Given the description of an element on the screen output the (x, y) to click on. 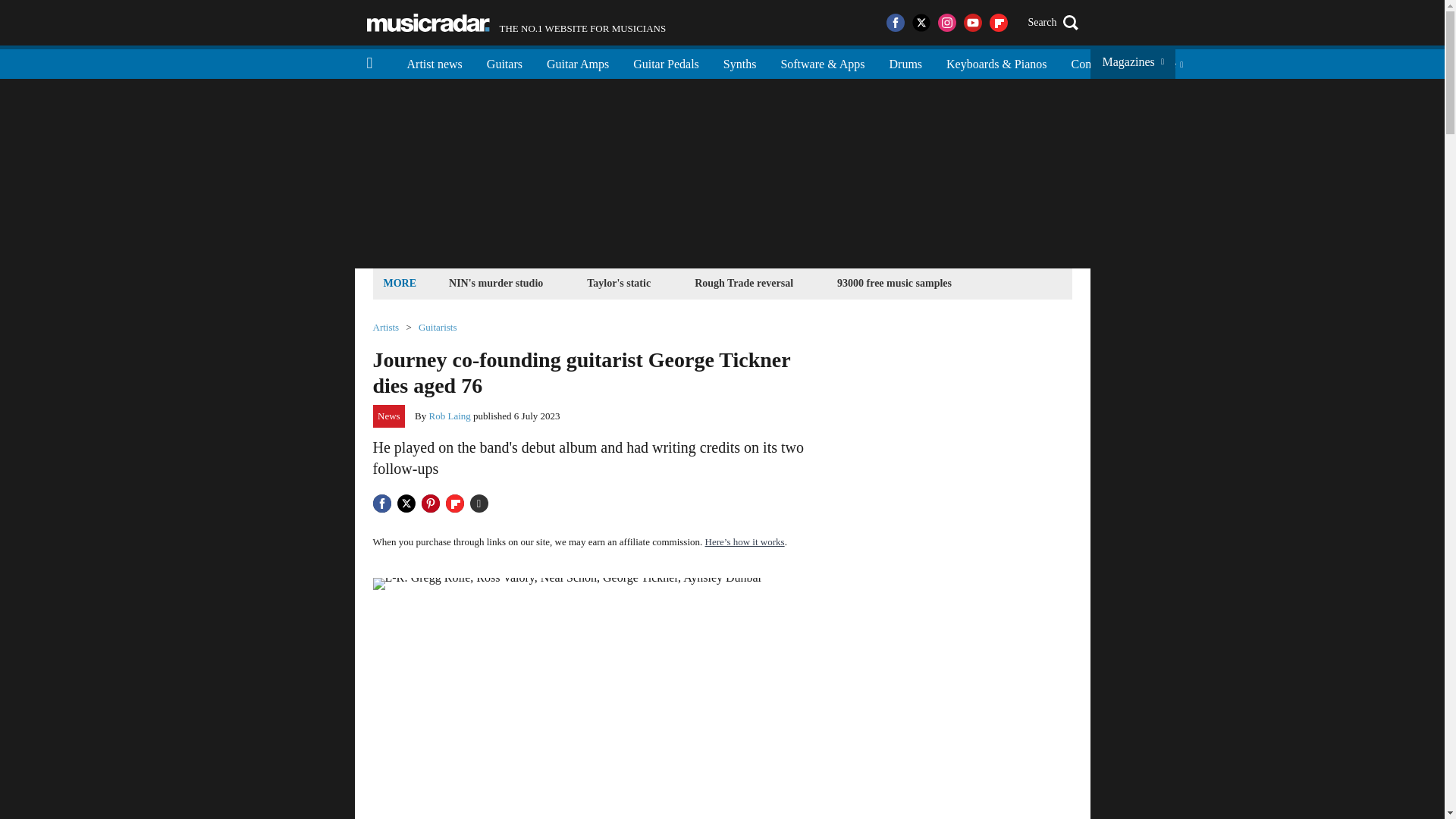
Music Radar (427, 22)
93000 free music samples (893, 282)
Guitars (504, 61)
Controllers (1097, 61)
Taylor's static (618, 282)
Guitar Amps (577, 61)
NIN's murder studio (496, 282)
Rough Trade reversal (742, 282)
Synths (739, 61)
